Given the description of an element on the screen output the (x, y) to click on. 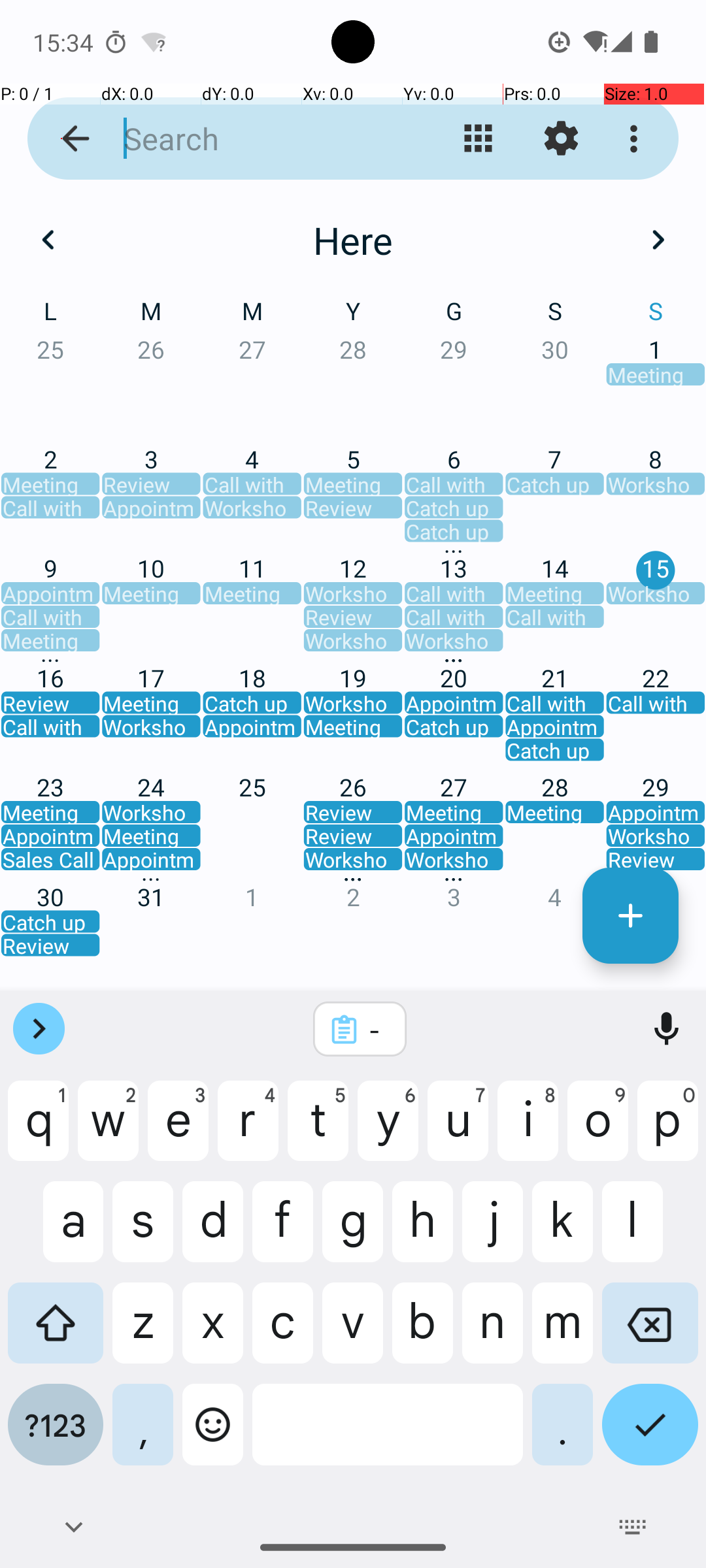
Kemmañ ar gwel Element type: android.widget.Button (477, 138)
Darvoud nevez Element type: android.widget.ImageButton (630, 915)
Here Element type: android.widget.TextView (352, 239)
